Given the description of an element on the screen output the (x, y) to click on. 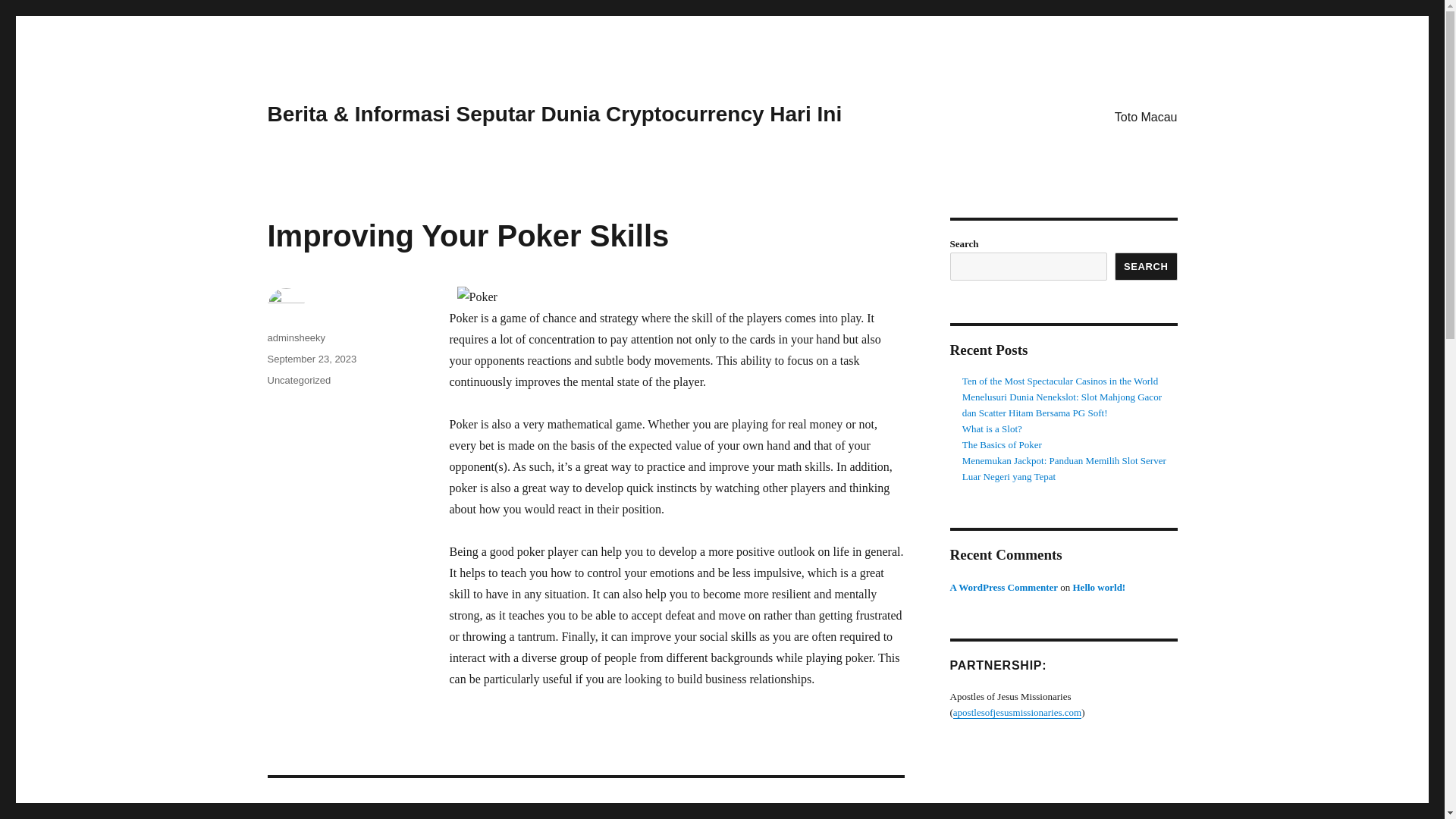
Toto Macau (1145, 116)
adminsheeky (295, 337)
September 23, 2023 (311, 358)
Uncategorized (585, 798)
